Given the description of an element on the screen output the (x, y) to click on. 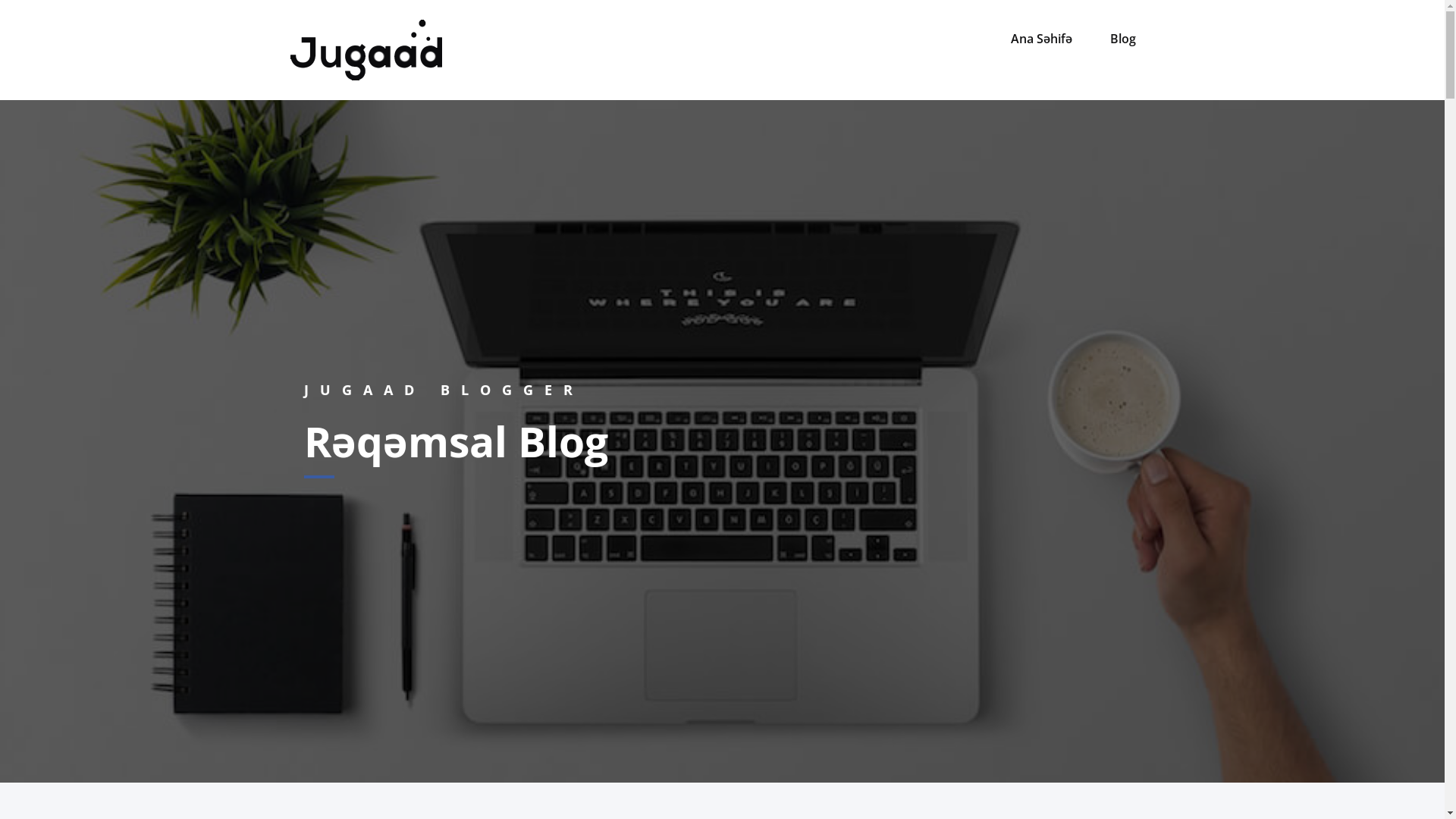
image Element type: hover (365, 49)
Blog Element type: text (1122, 38)
